Given the description of an element on the screen output the (x, y) to click on. 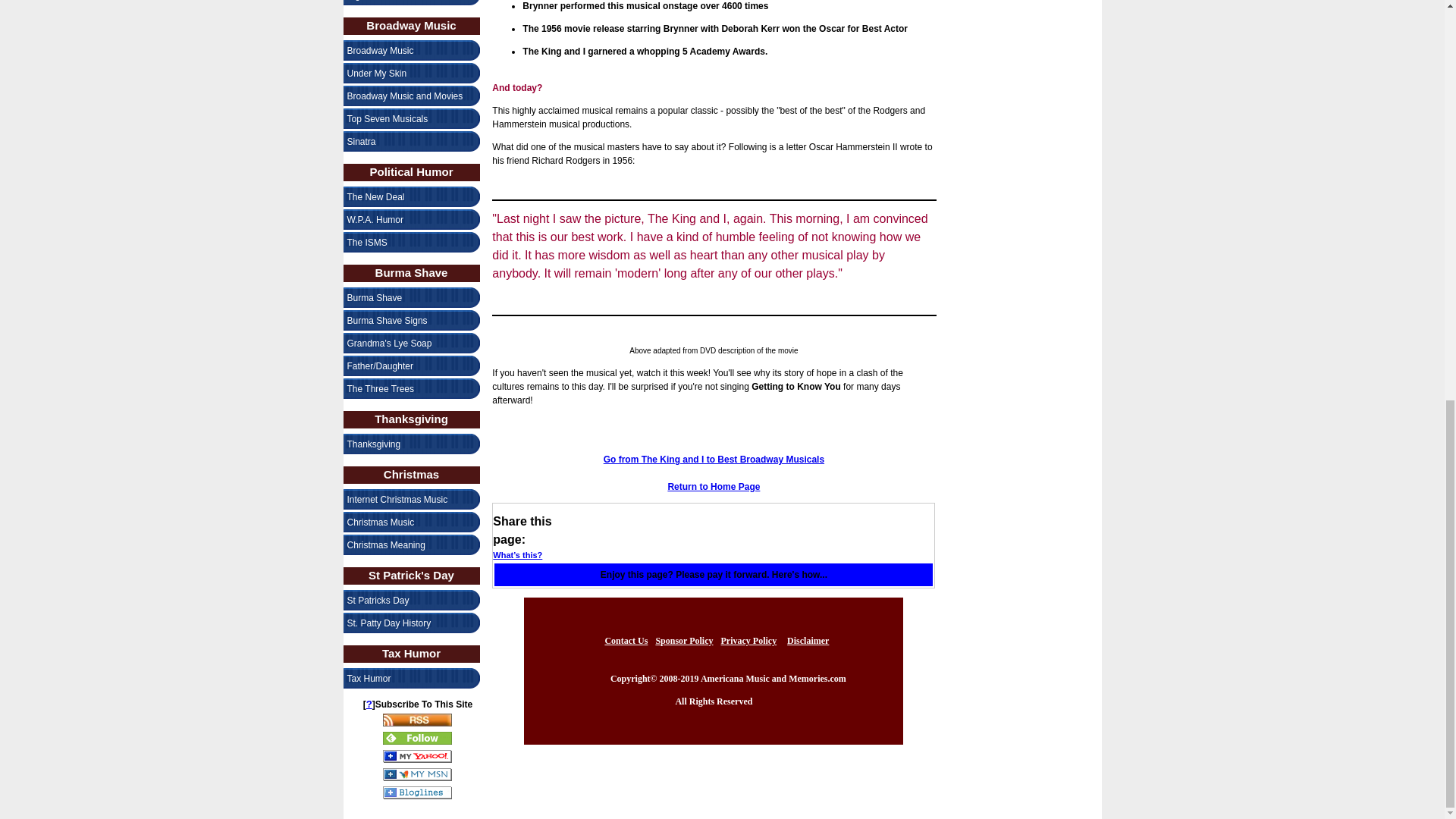
Burma Shave Signs (417, 320)
Under My Skin (417, 73)
W.P.A. Humor (417, 219)
St Patricks Day (417, 599)
The Three Trees (417, 388)
Big Band (417, 2)
Internet Christmas Music (417, 499)
Thanksgiving (417, 444)
Christmas Meaning (417, 545)
Broadway Music and Movies (417, 96)
Christmas Music (417, 522)
Top Seven Musicals (417, 118)
Tax Humor (417, 678)
Grandma's Lye Soap (417, 342)
Burma Shave (417, 297)
